Given the description of an element on the screen output the (x, y) to click on. 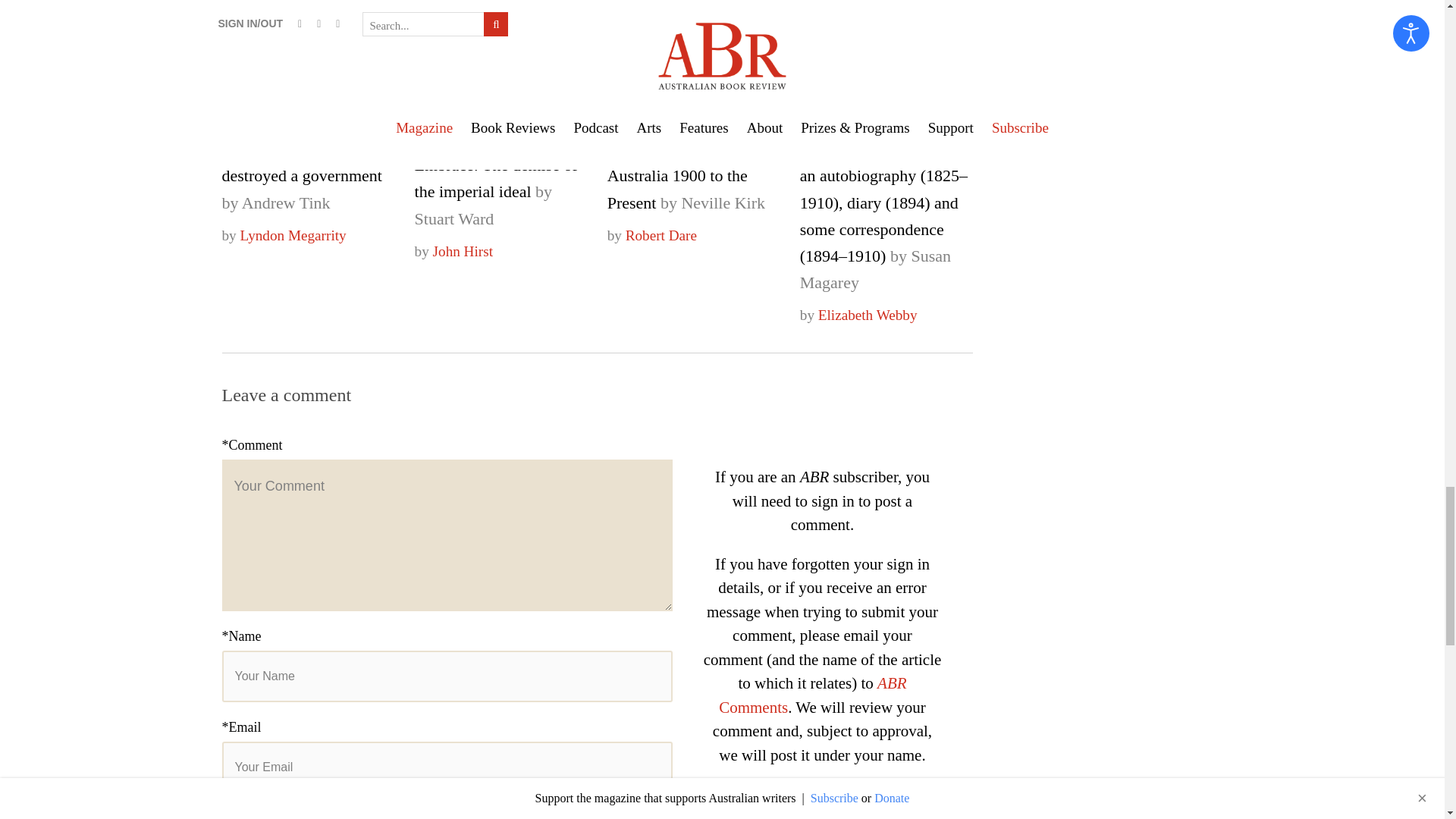
Your Name (446, 675)
Submit comment (300, 817)
Your Email (446, 767)
